Given the description of an element on the screen output the (x, y) to click on. 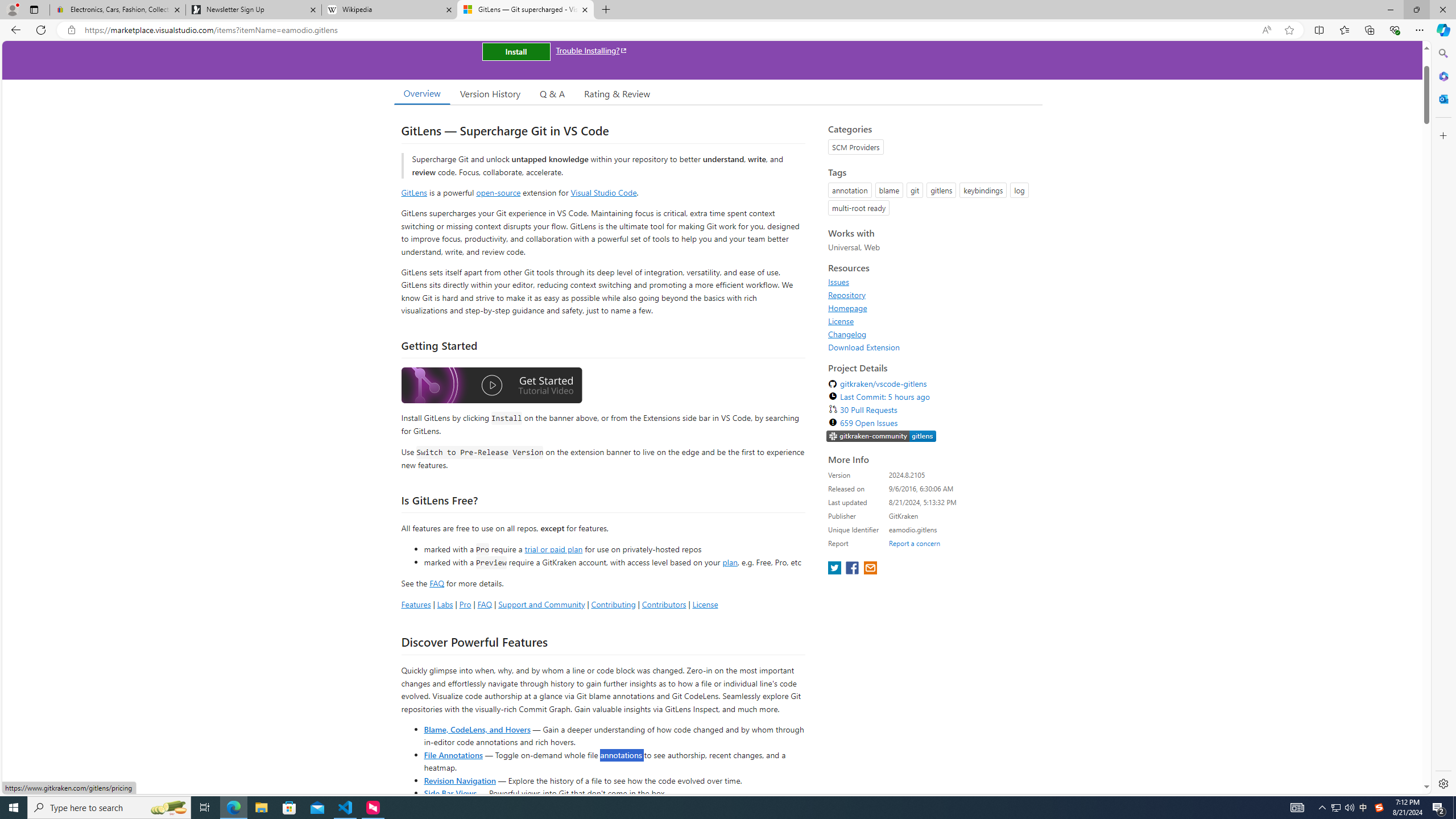
https://slack.gitkraken.com// (881, 436)
Repository (931, 294)
Report a concern (914, 542)
Visual Studio Code (603, 192)
Watch the GitLens Getting Started video (491, 387)
Changelog (931, 333)
Version History (489, 92)
